Given the description of an element on the screen output the (x, y) to click on. 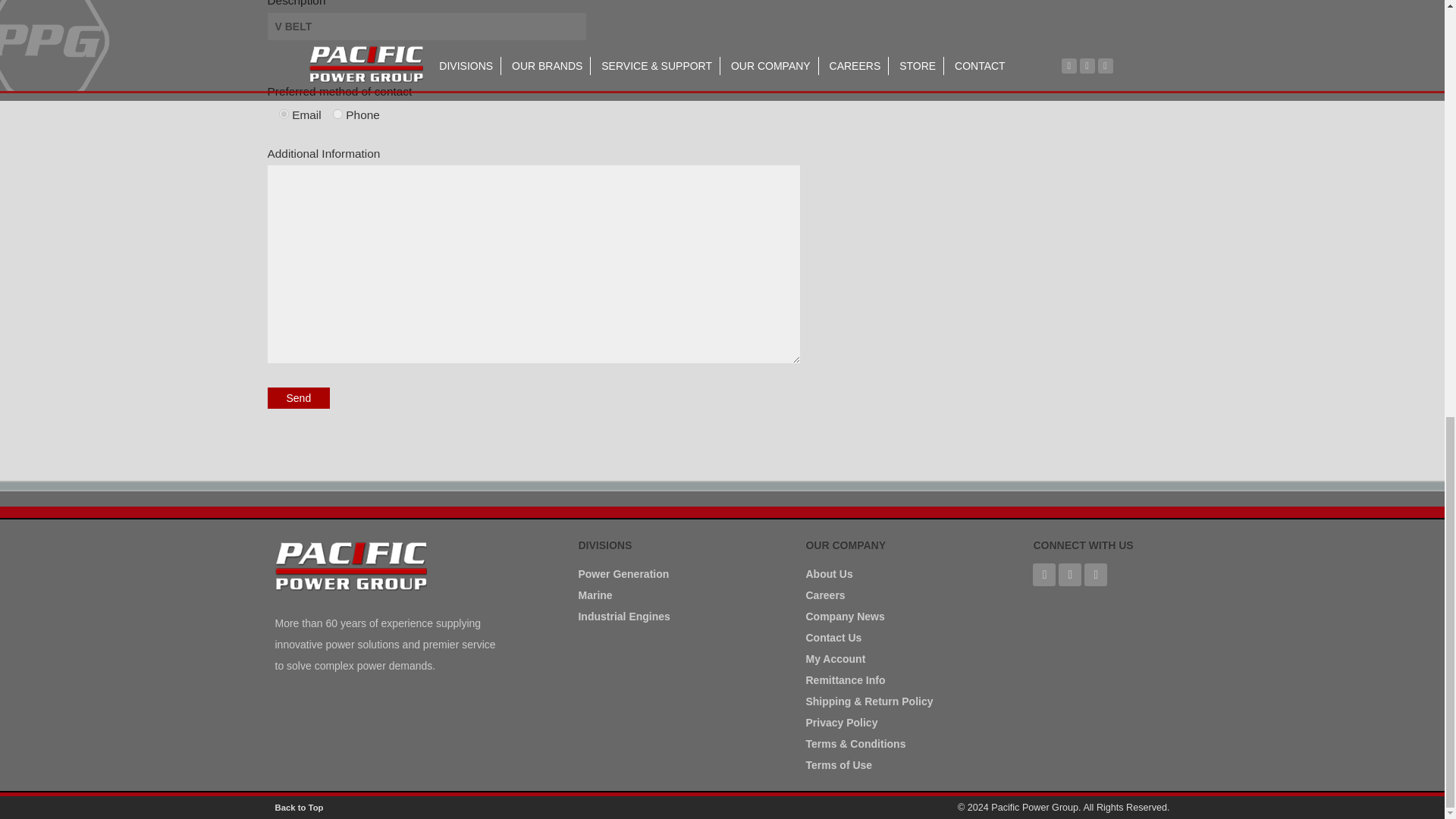
Email (283, 113)
Send (298, 397)
V BELT (425, 26)
Phone (337, 113)
